Given the description of an element on the screen output the (x, y) to click on. 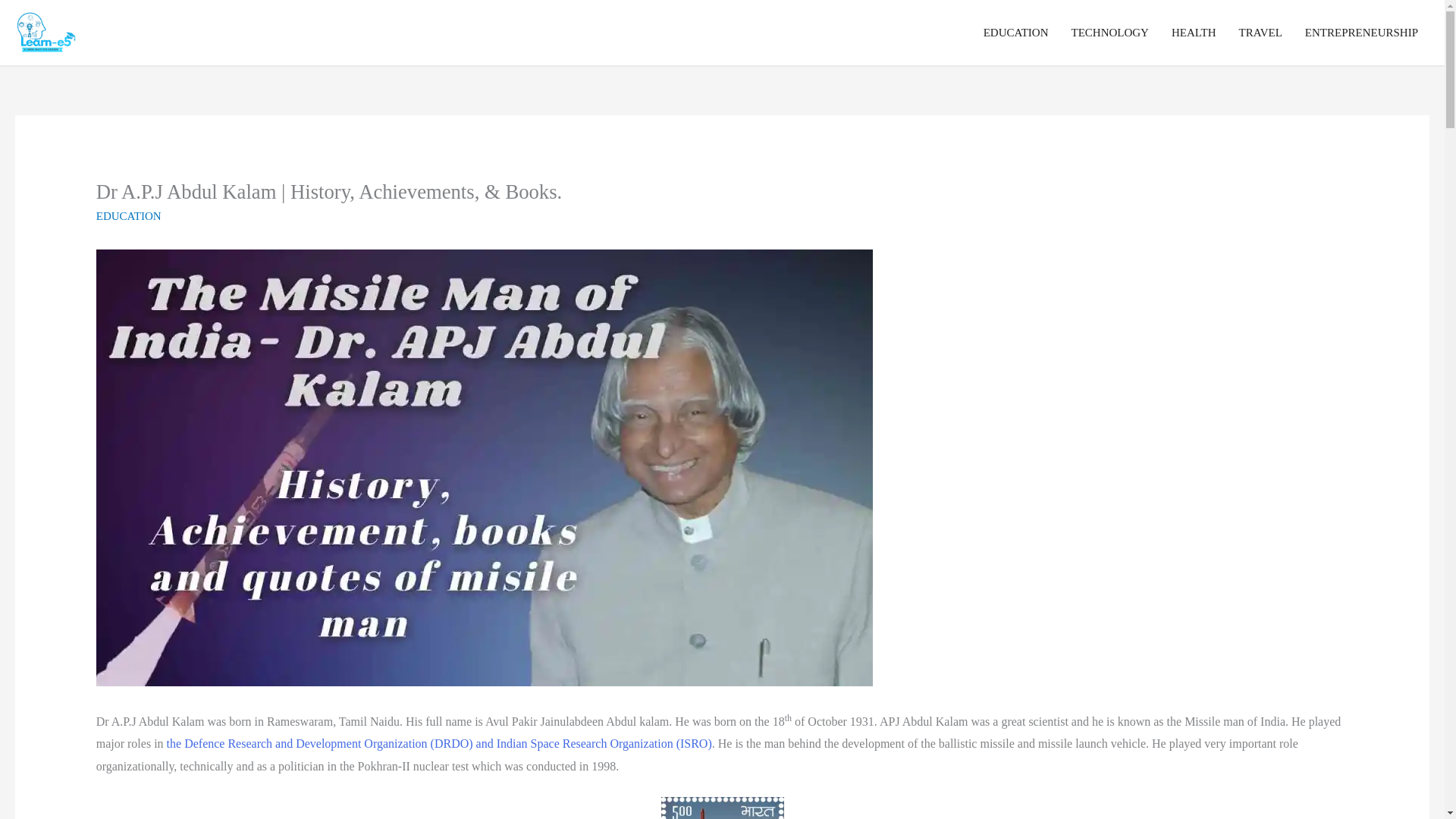
ENTREPRENEURSHIP (1361, 32)
EDUCATION (1015, 32)
EDUCATION (128, 215)
HEALTH (1193, 32)
TECHNOLOGY (1109, 32)
TRAVEL (1260, 32)
